Given the description of an element on the screen output the (x, y) to click on. 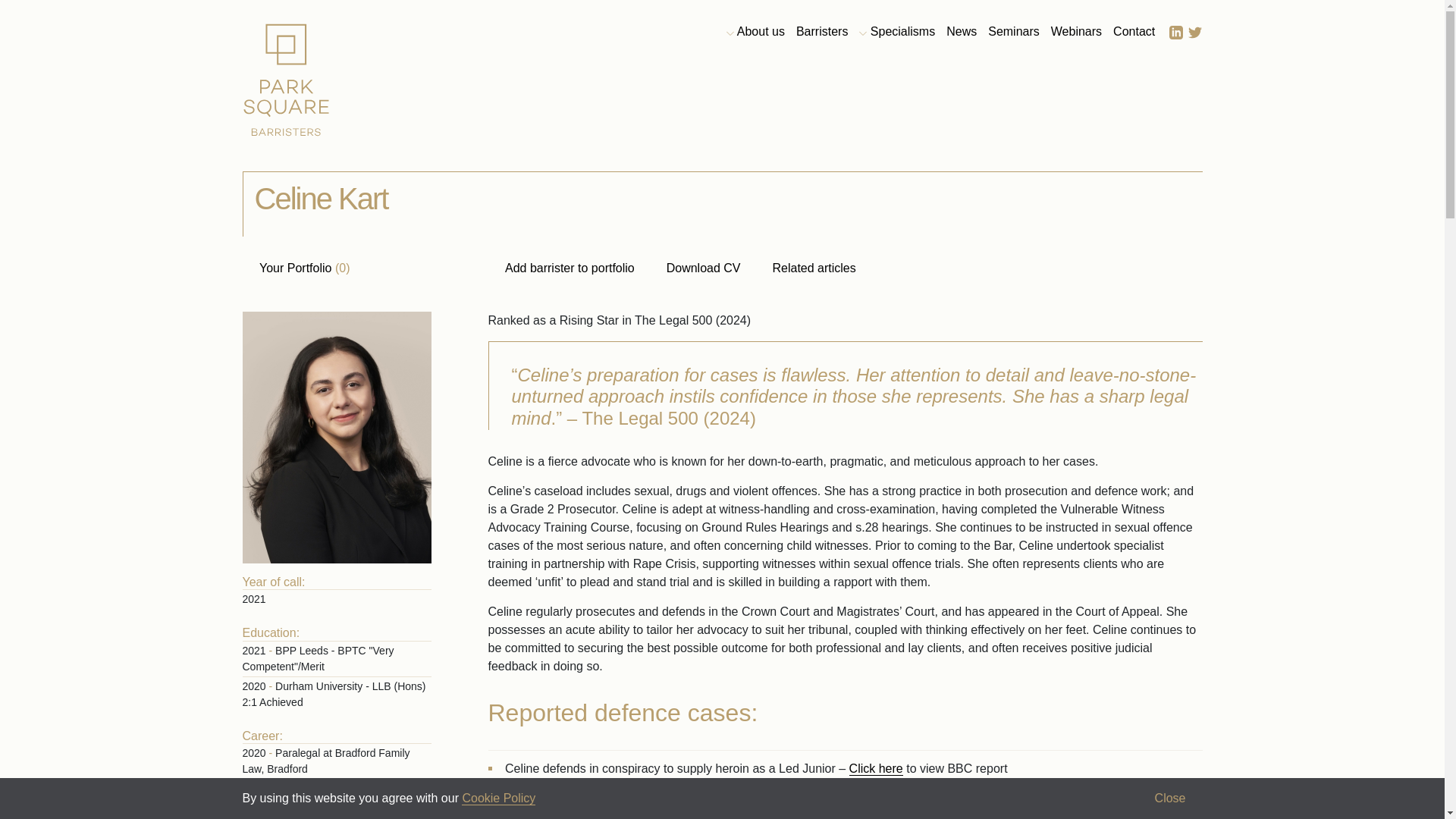
About us (755, 31)
Barristers (821, 31)
Specialisms (896, 31)
